Given the description of an element on the screen output the (x, y) to click on. 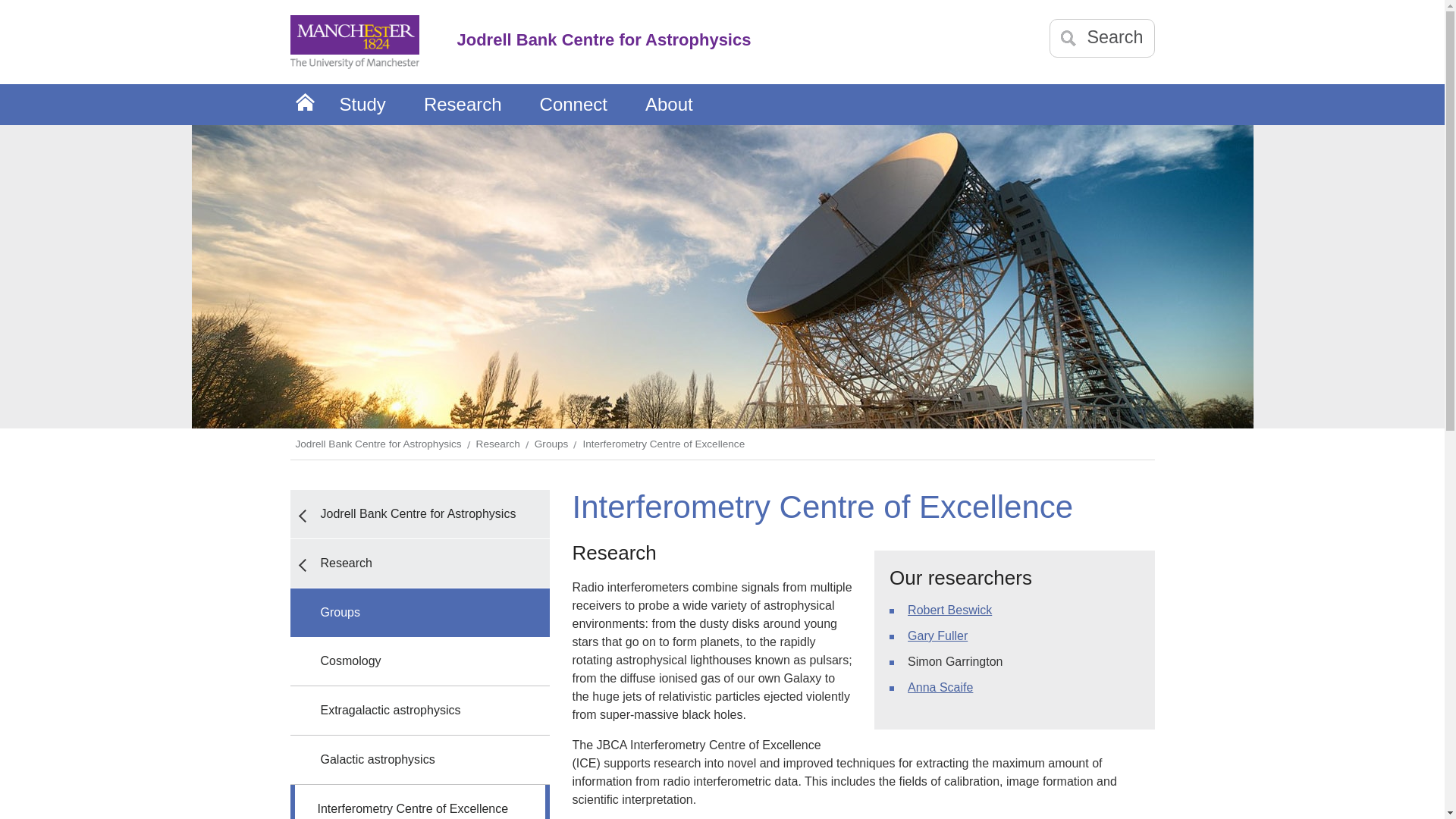
Jodrell Bank Centre for Astrophysics (379, 444)
About (668, 104)
Research (499, 444)
Jodrell Bank Centre for Astrophysics (418, 513)
Interferometry Centre of Excellence (665, 444)
Research (462, 104)
Study (362, 104)
Connect (573, 104)
Groups (553, 444)
Research (418, 563)
